Given the description of an element on the screen output the (x, y) to click on. 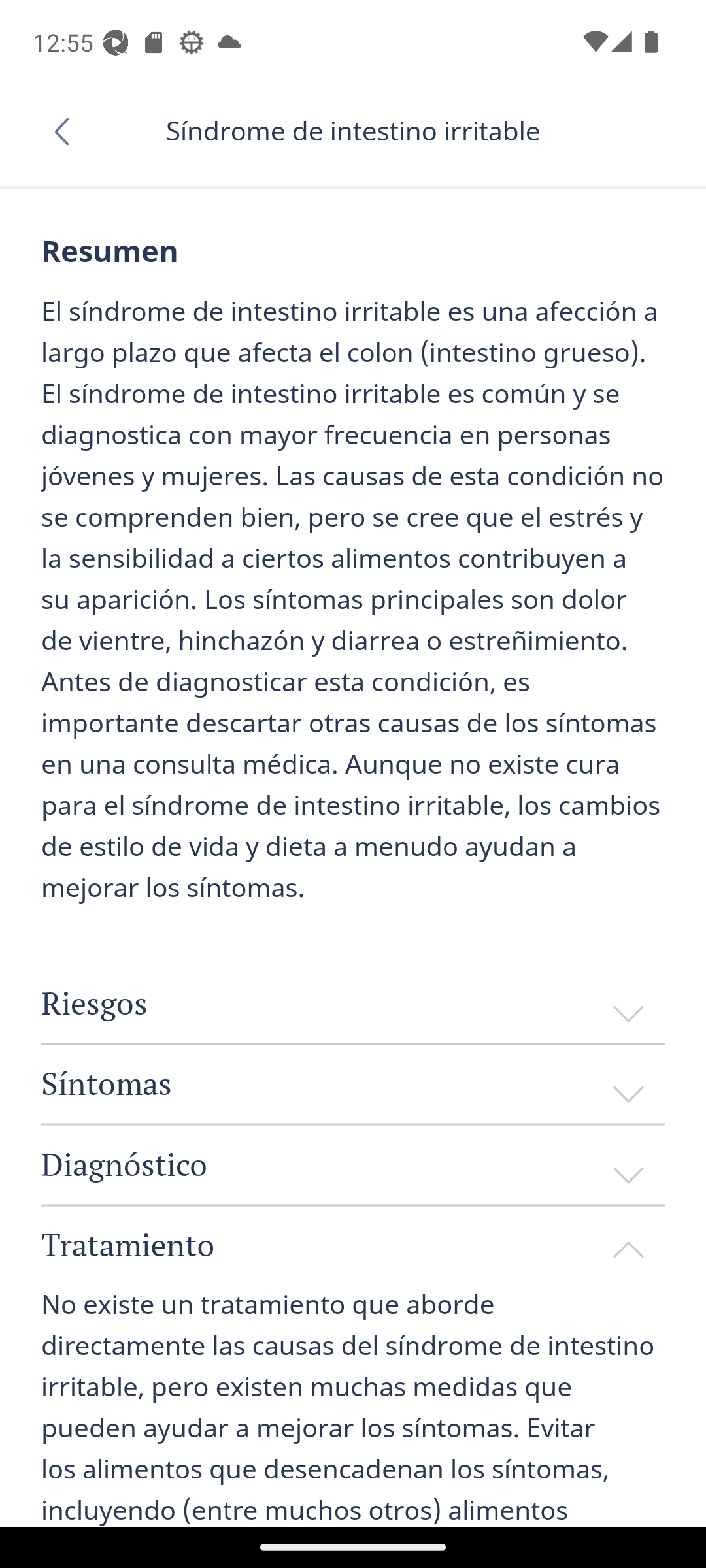
Go back, Navigates to the previous screen (68, 131)
Riesgos  (352, 1003)
Síntomas  (352, 1083)
Diagnóstico  (352, 1164)
Tratamiento  (352, 1244)
